Given the description of an element on the screen output the (x, y) to click on. 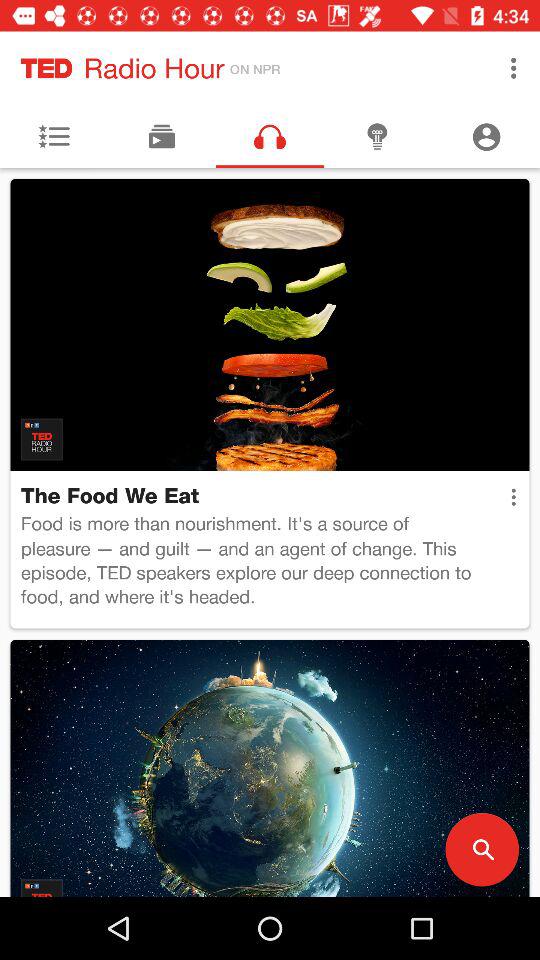
select the item to the right of the food is more item (513, 497)
